Given the description of an element on the screen output the (x, y) to click on. 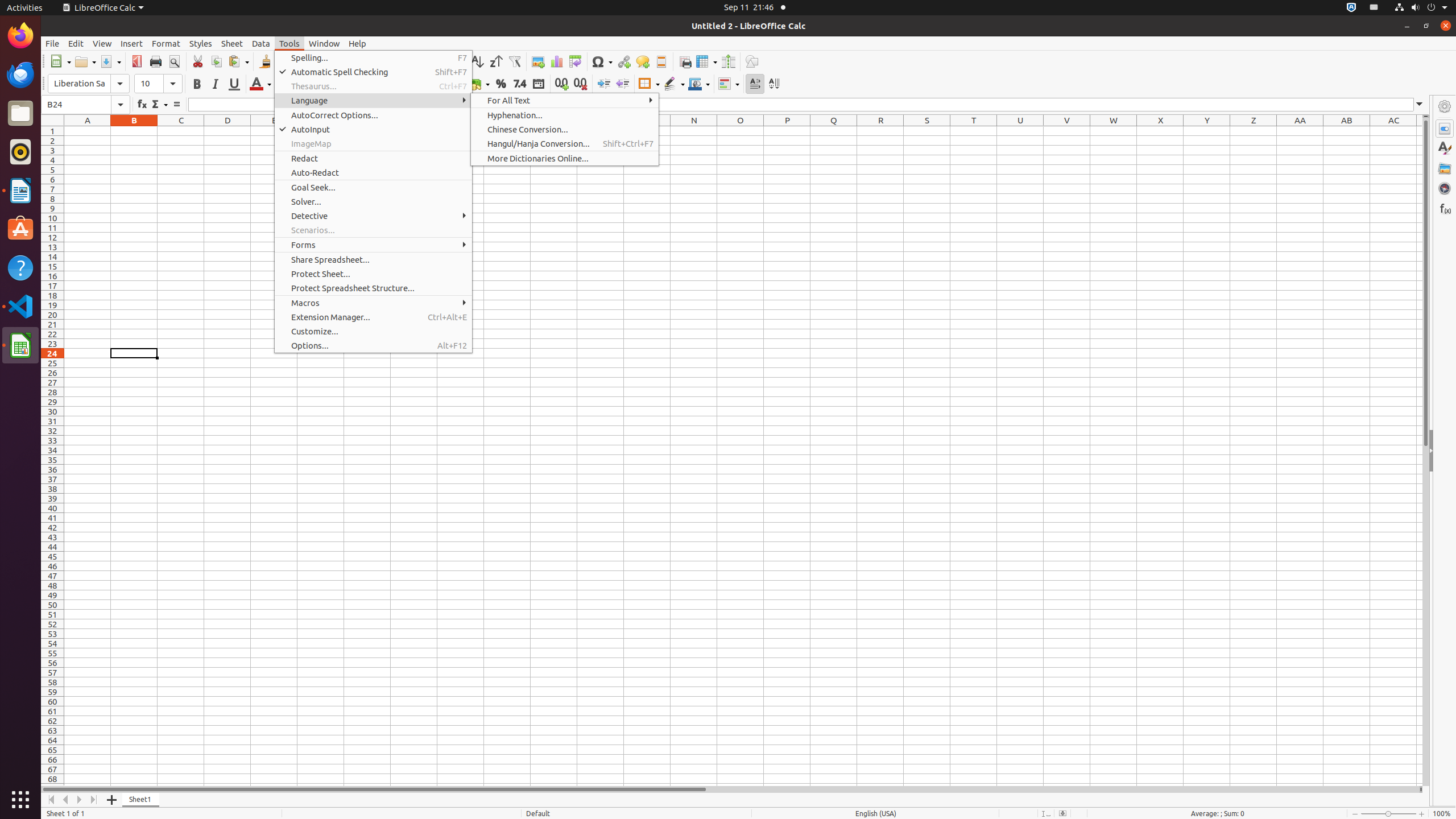
Select Function Element type: push-button (159, 104)
Text direction from left to right Element type: toggle-button (754, 83)
Conditional Element type: push-button (728, 83)
Save Element type: push-button (109, 61)
Extension Manager... Element type: menu-item (373, 316)
